Given the description of an element on the screen output the (x, y) to click on. 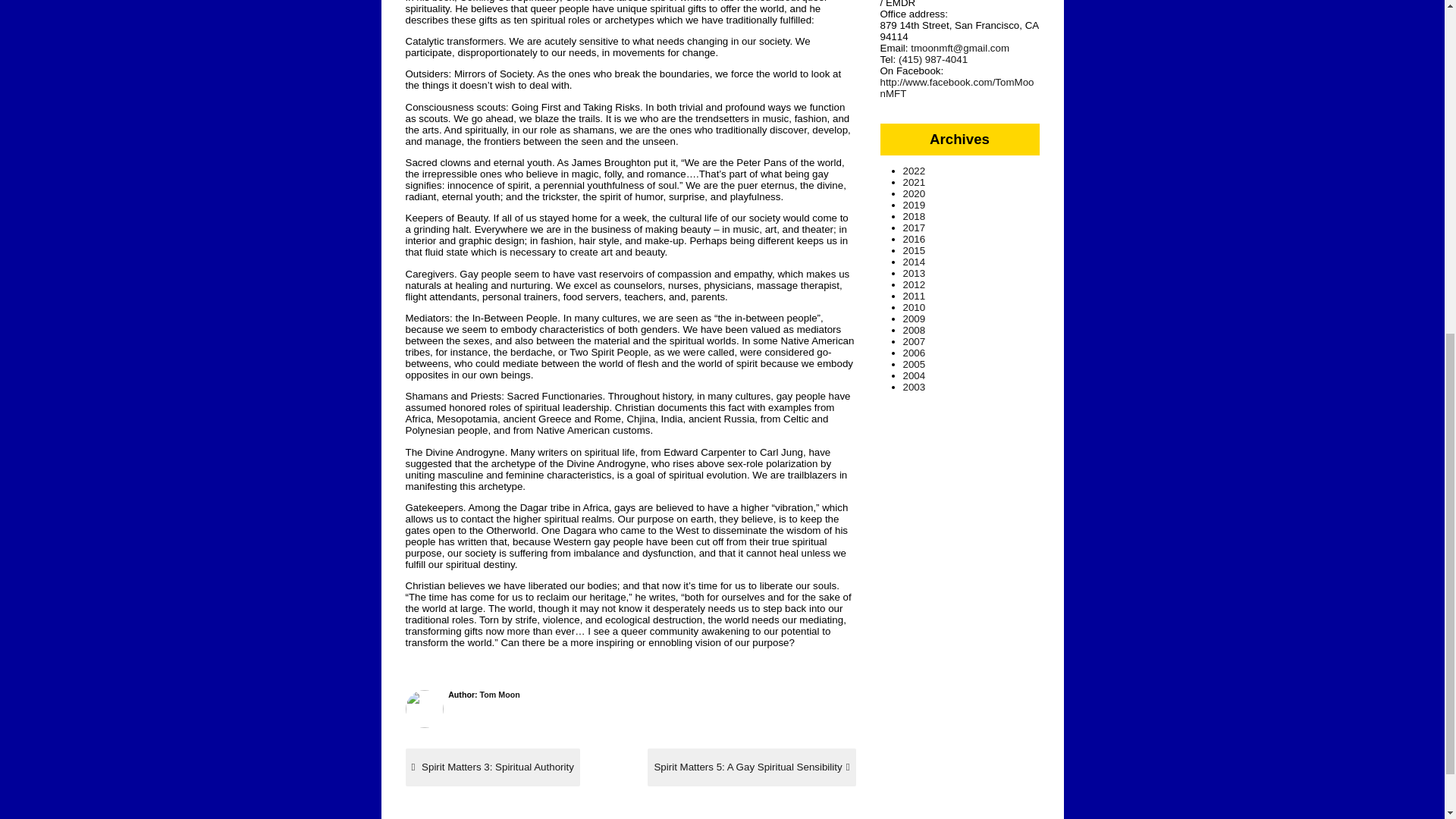
2016 (913, 238)
2019 (913, 204)
2022 (913, 170)
2013 (913, 273)
2020 (491, 767)
2011 (751, 767)
2021 (913, 193)
2015 (913, 296)
